Given the description of an element on the screen output the (x, y) to click on. 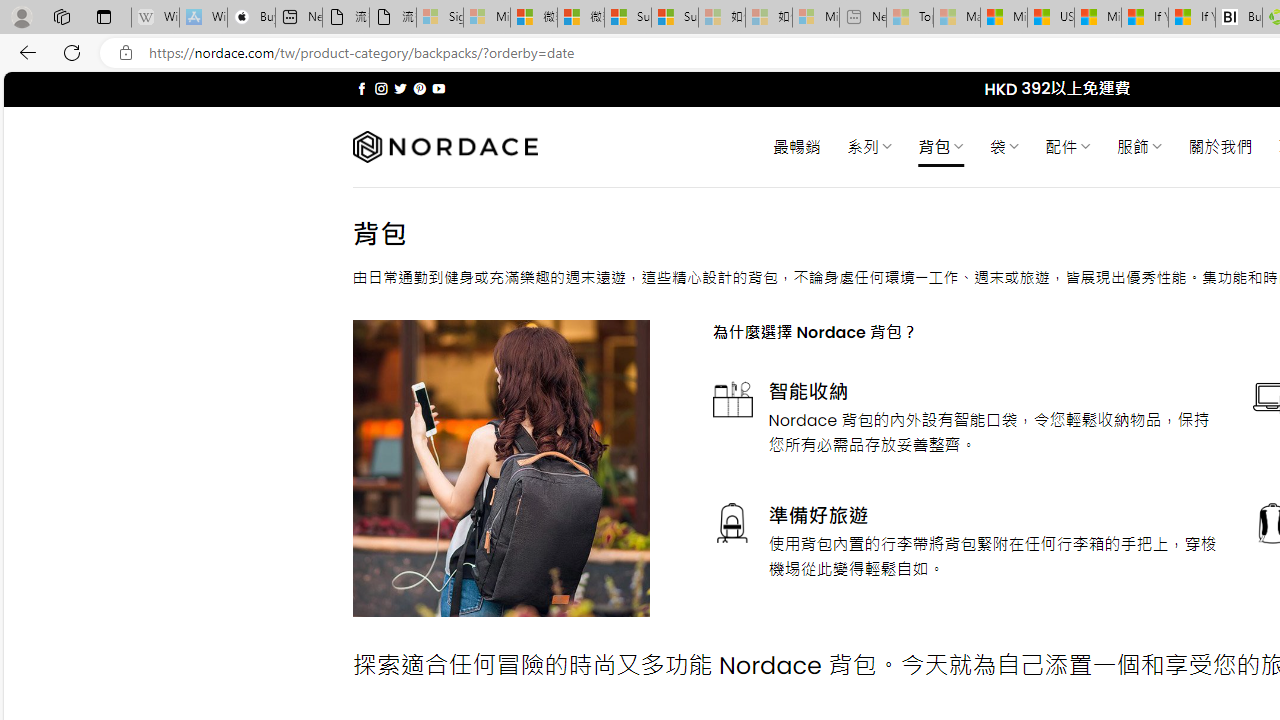
New tab (299, 17)
Nordace (444, 147)
Follow on Instagram (381, 88)
US Heat Deaths Soared To Record High Last Year (1050, 17)
Microsoft account | Account Checkup - Sleeping (815, 17)
Microsoft Services Agreement - Sleeping (486, 17)
Follow on Twitter (400, 88)
Marine life - MSN - Sleeping (957, 17)
